Given the description of an element on the screen output the (x, y) to click on. 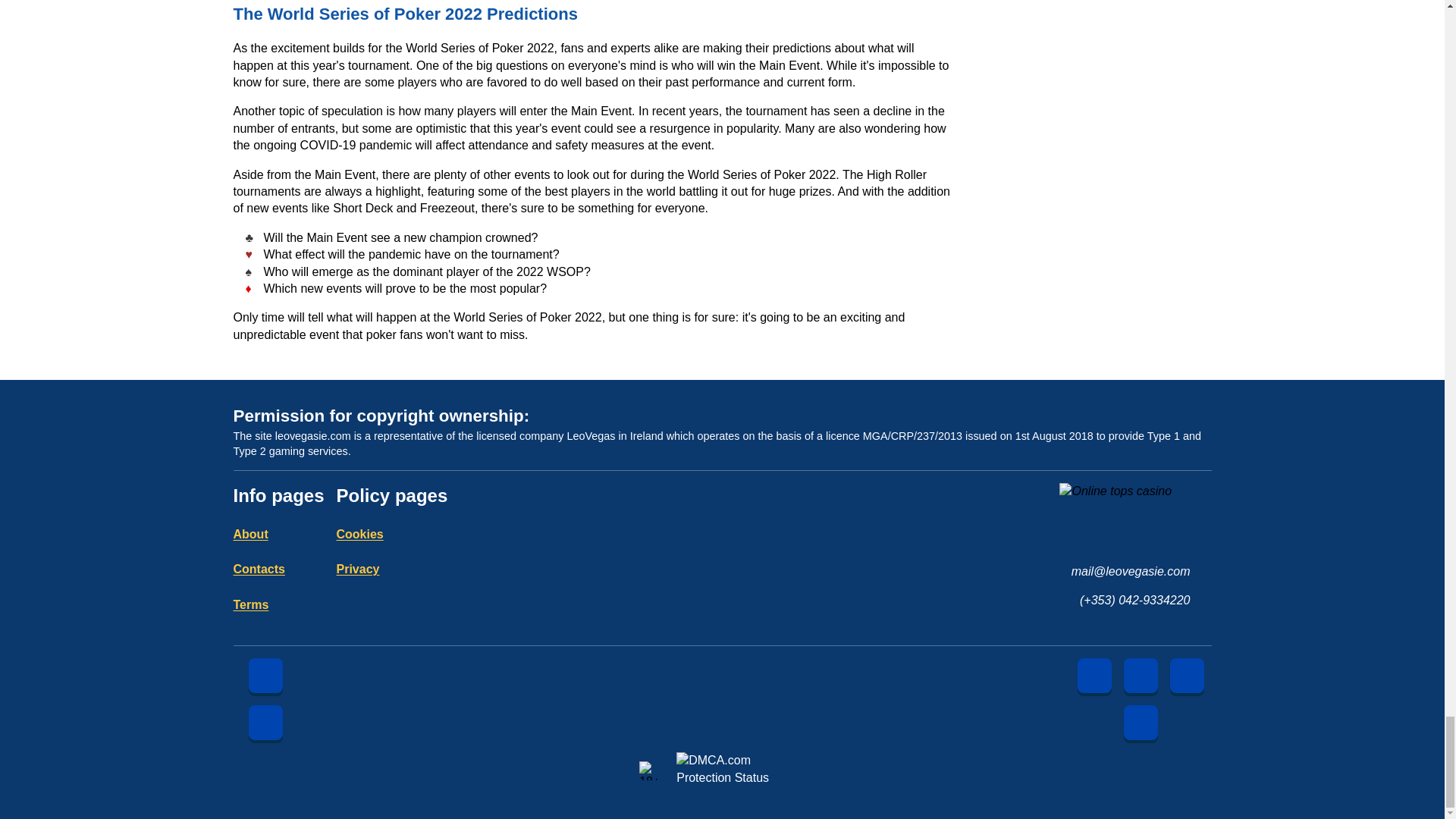
Contacts (258, 568)
Terms (250, 604)
Privacy (358, 568)
About (249, 533)
DMCA.com Protection Status (741, 770)
Cookies (360, 533)
